Given the description of an element on the screen output the (x, y) to click on. 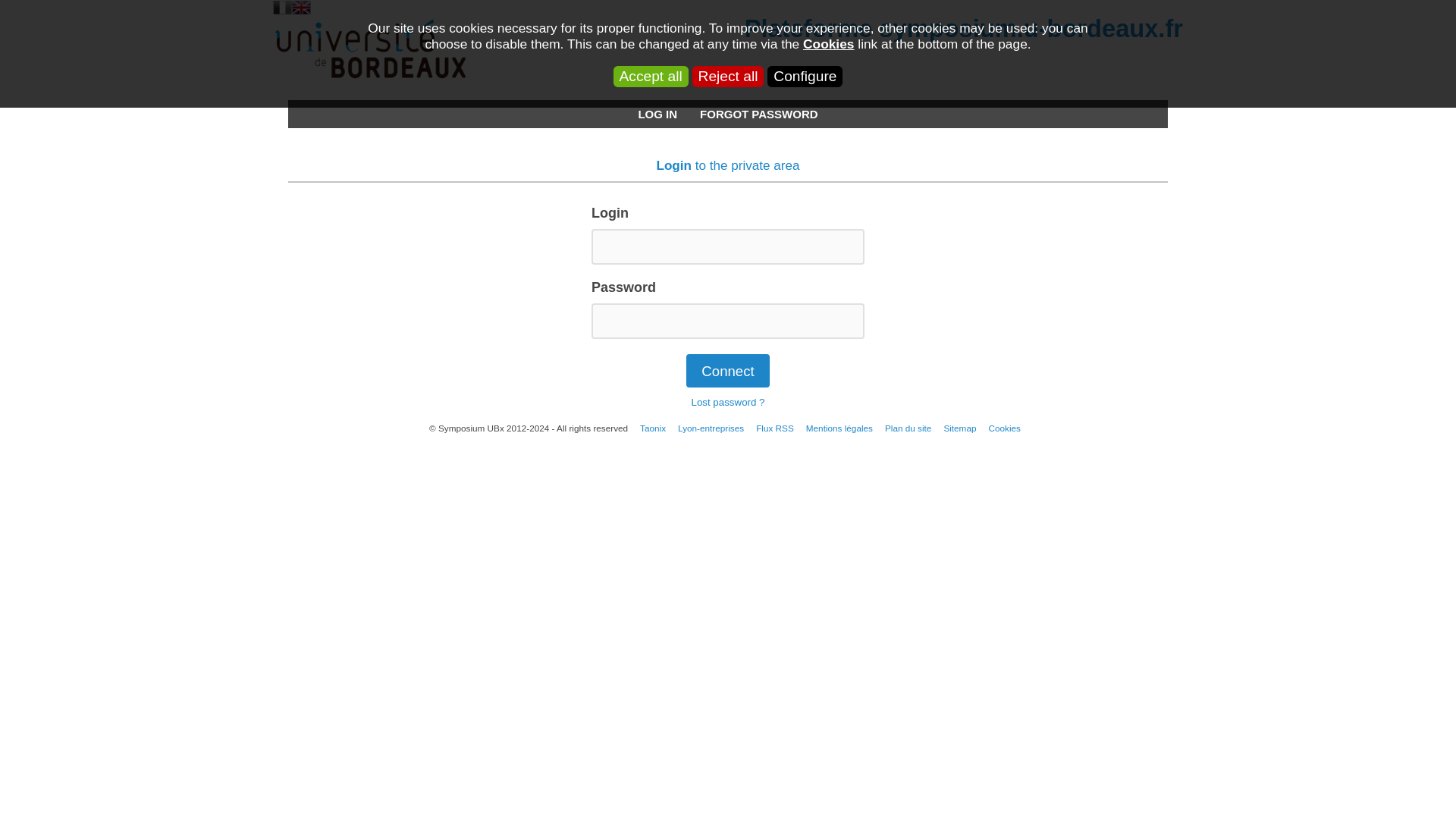
Symposium Univ Bordeaux (370, 48)
Plan du site (908, 428)
Cookies (1003, 428)
Taonix (652, 428)
Gestion des cookies (1003, 428)
Connect (726, 370)
Lost password ? (727, 401)
Configure (805, 76)
Sitemap (959, 428)
Flux RSS (774, 428)
Accept all (650, 76)
Plan du site (908, 428)
Reject all (728, 76)
LOG IN (657, 114)
Lyon-entreprises (710, 428)
